Given the description of an element on the screen output the (x, y) to click on. 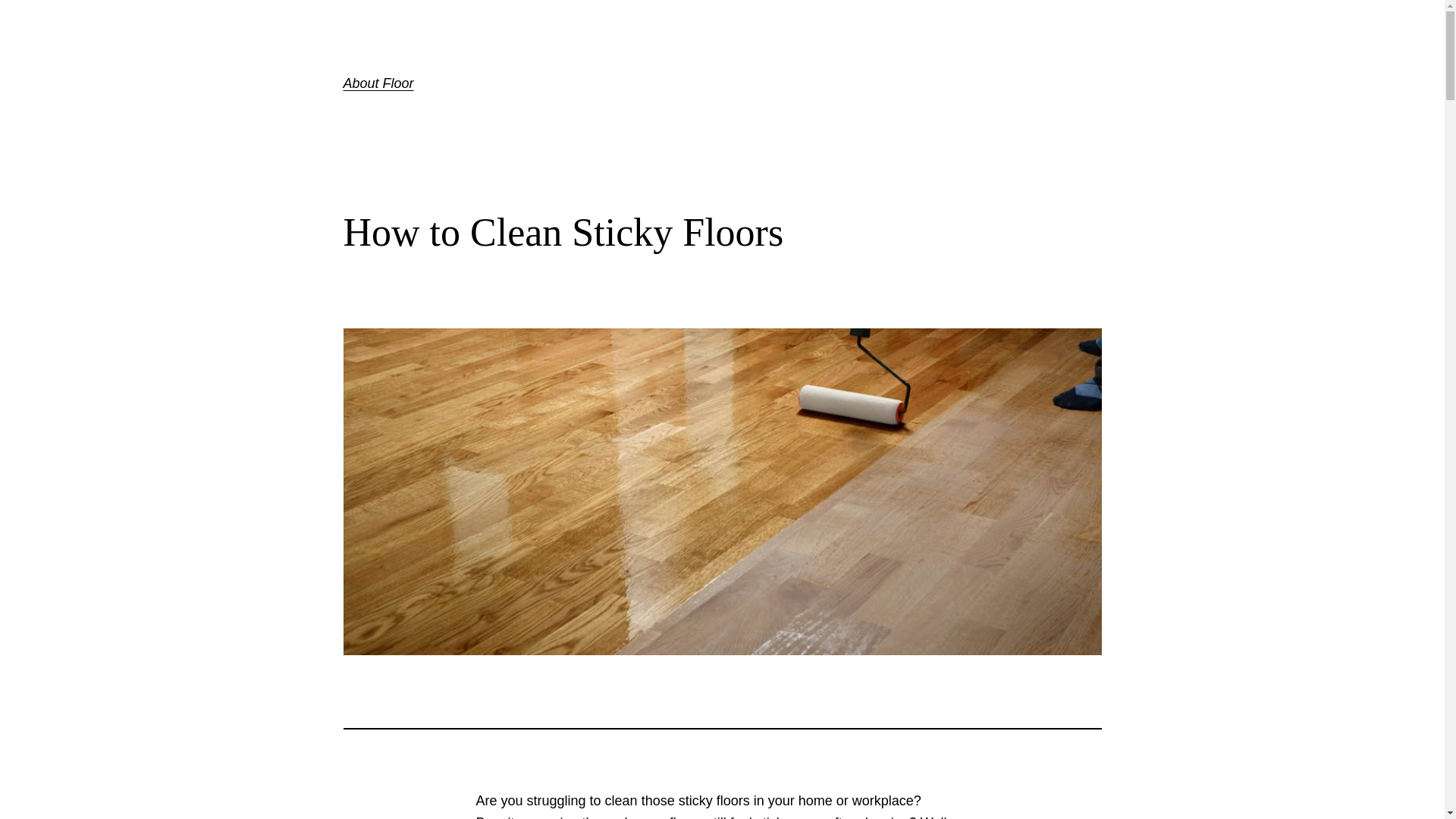
About Floor (377, 83)
